Given the description of an element on the screen output the (x, y) to click on. 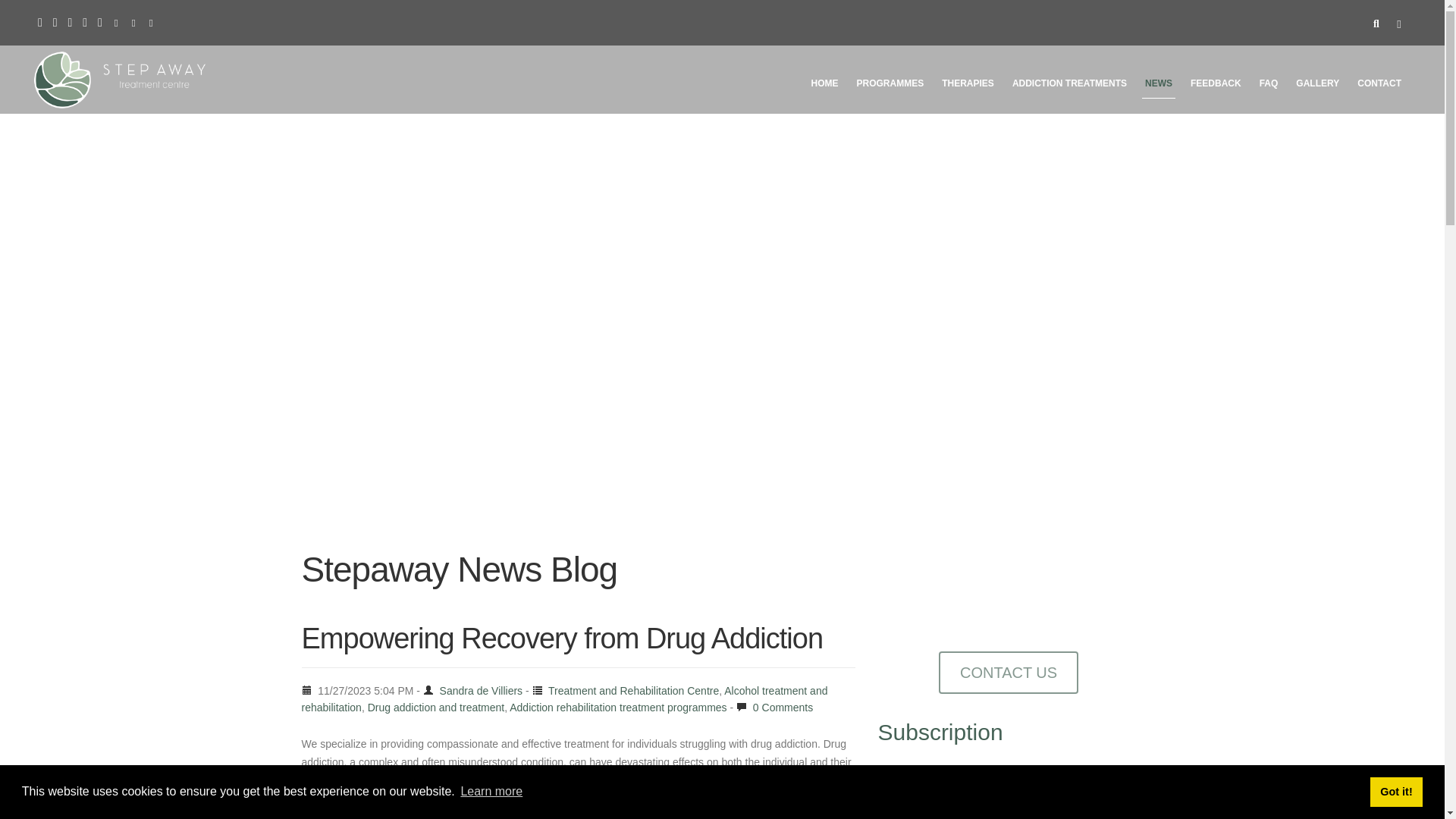
HOME (824, 87)
View all posts in Treatment and Rehabilitation Centre (633, 690)
Facebook (39, 21)
RSS (84, 21)
WhatsApp Message (151, 17)
Twitter (100, 21)
RSS (84, 21)
Learn more (491, 791)
FEEDBACK (1216, 87)
Twitter (100, 21)
Pinterest (69, 21)
Pinterest (69, 21)
View all posts in Alcohol treatment and rehabilitation (564, 698)
Facebook (39, 21)
